Given the description of an element on the screen output the (x, y) to click on. 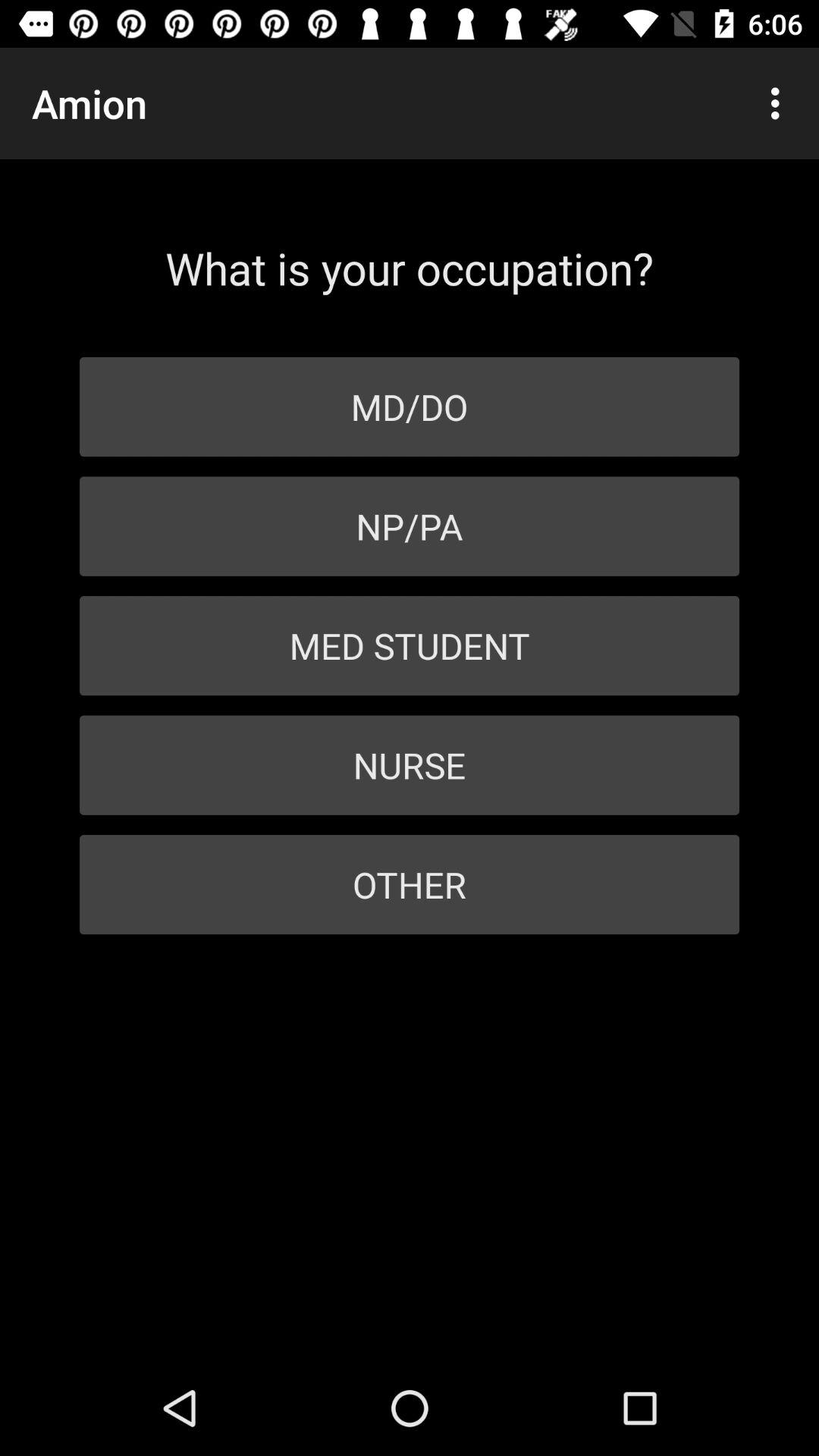
turn off the nurse item (409, 765)
